Given the description of an element on the screen output the (x, y) to click on. 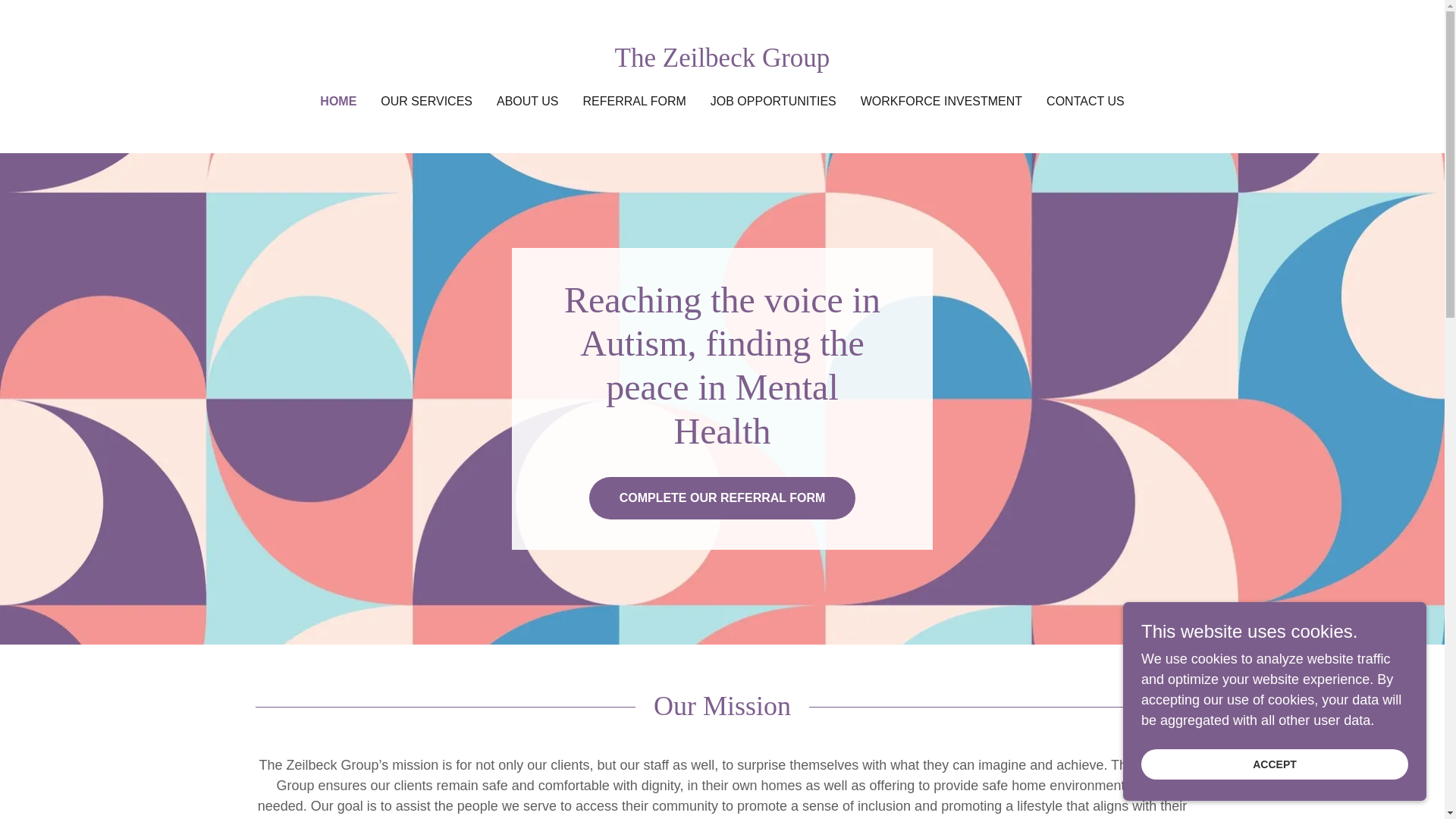
JOB OPPORTUNITIES (773, 101)
HOME (338, 101)
OUR SERVICES (426, 101)
CONTACT US (1085, 101)
ABOUT US (527, 101)
COMPLETE OUR REFERRAL FORM (722, 497)
REFERRAL FORM (634, 101)
The Zeilbeck Group (721, 61)
The Zeilbeck Group (721, 61)
WORKFORCE INVESTMENT (941, 101)
ACCEPT (1274, 764)
